Given the description of an element on the screen output the (x, y) to click on. 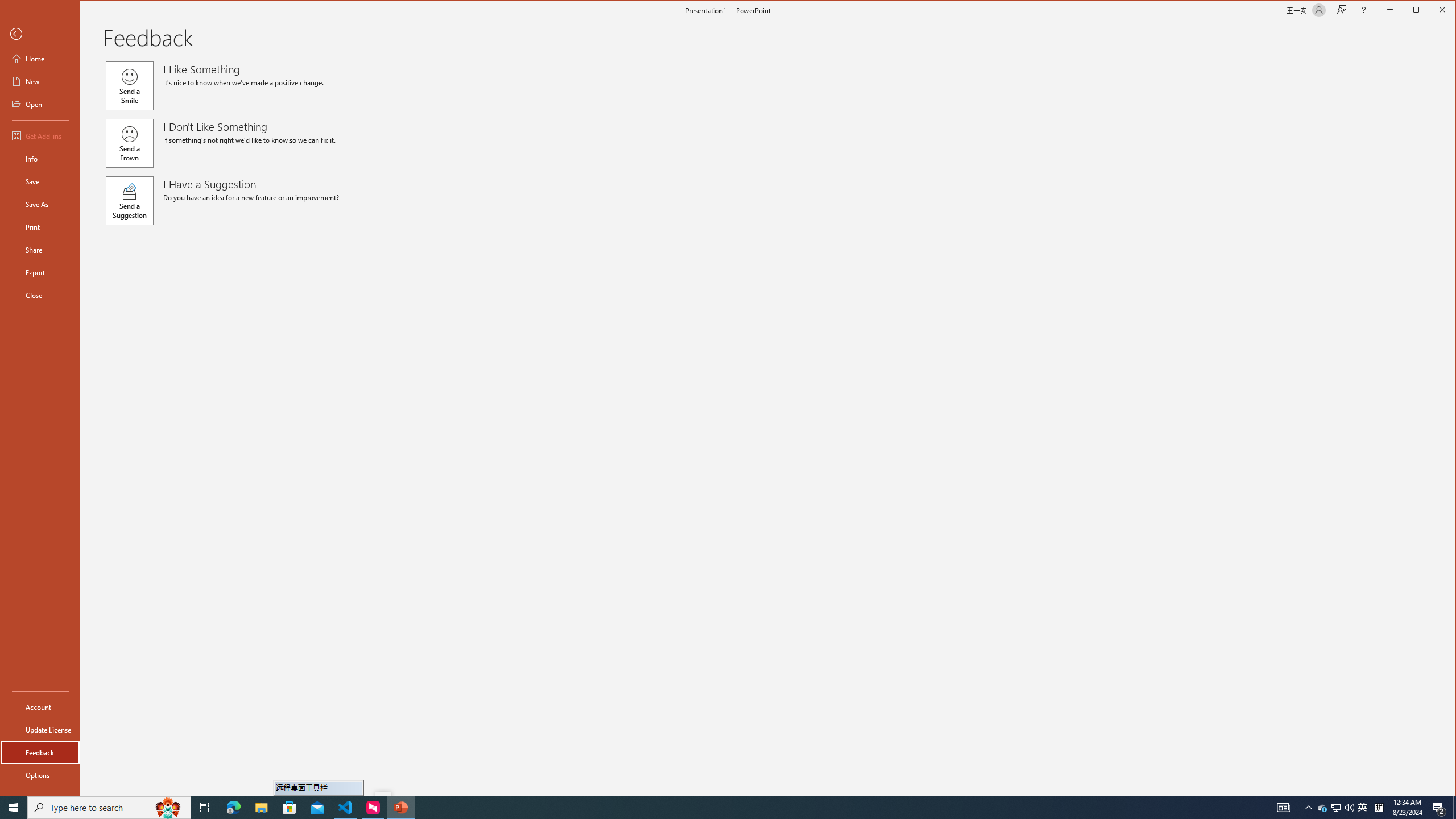
Export (40, 272)
Send a Smile (129, 85)
Save As (40, 203)
Task View (204, 807)
Feedback (40, 752)
Tray Input Indicator - Chinese (Simplified, China) (1378, 807)
Microsoft Store (289, 807)
Update License (40, 729)
Print (40, 226)
Microsoft Edge (233, 807)
